Given the description of an element on the screen output the (x, y) to click on. 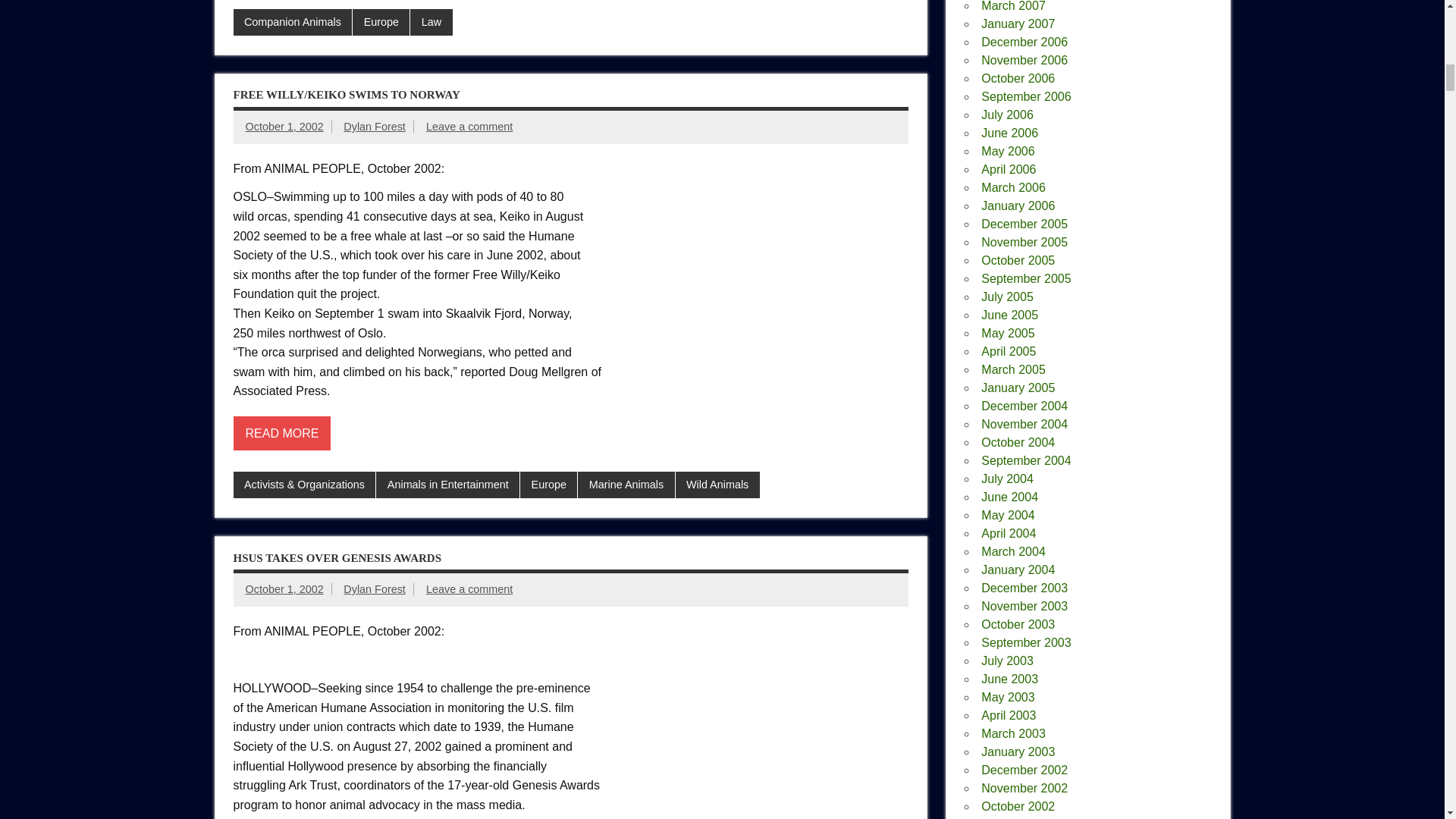
View all posts by Dylan Forest (374, 589)
View all posts by Dylan Forest (374, 126)
Europe (380, 22)
October 1, 2002 (284, 126)
6:55 pm (284, 589)
Dylan Forest (374, 126)
Companion Animals (292, 22)
Law (430, 22)
7:02 pm (284, 126)
